Given the description of an element on the screen output the (x, y) to click on. 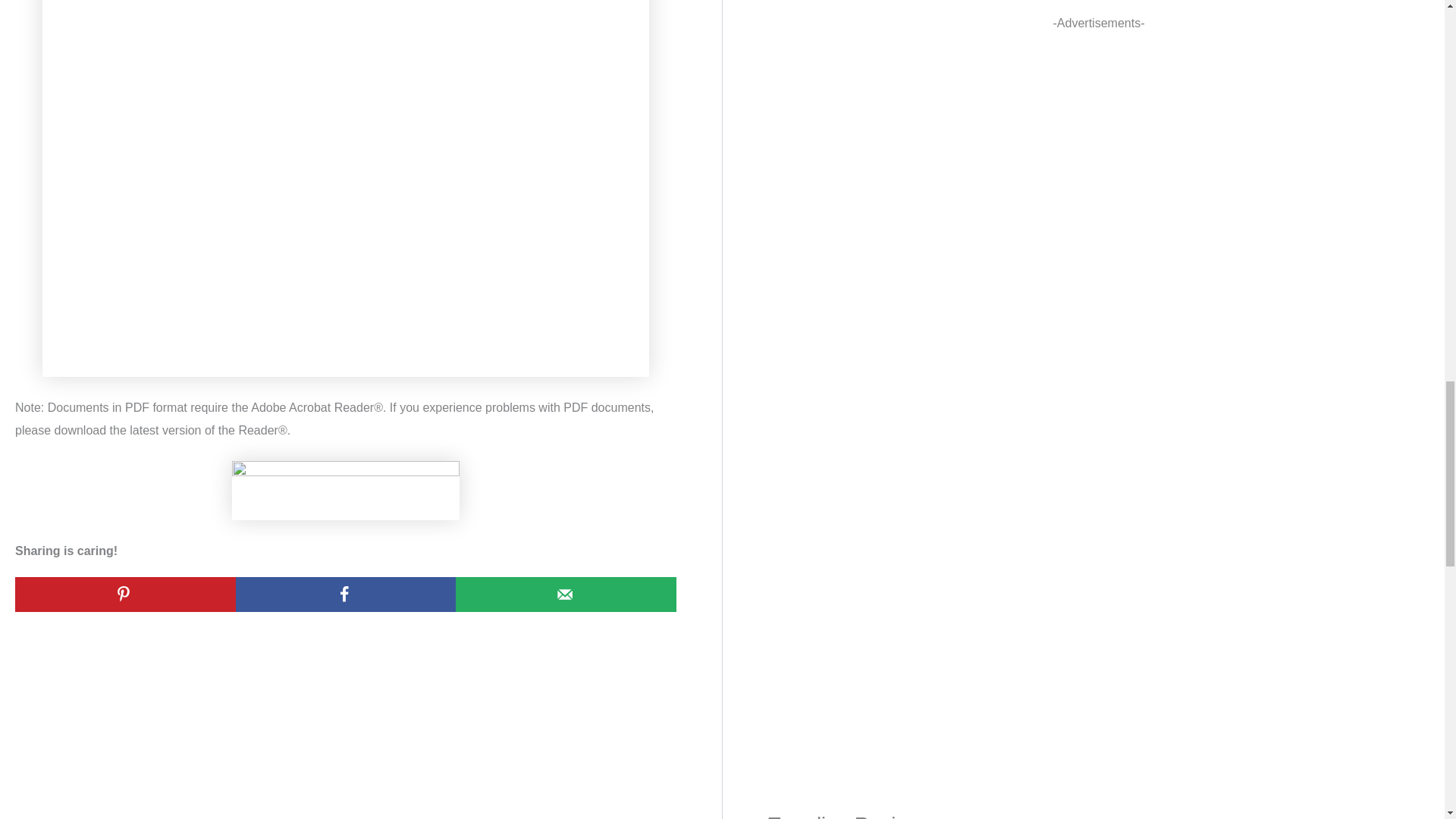
Send over email (566, 594)
Save to Pinterest (124, 594)
Share on Facebook (346, 594)
